Given the description of an element on the screen output the (x, y) to click on. 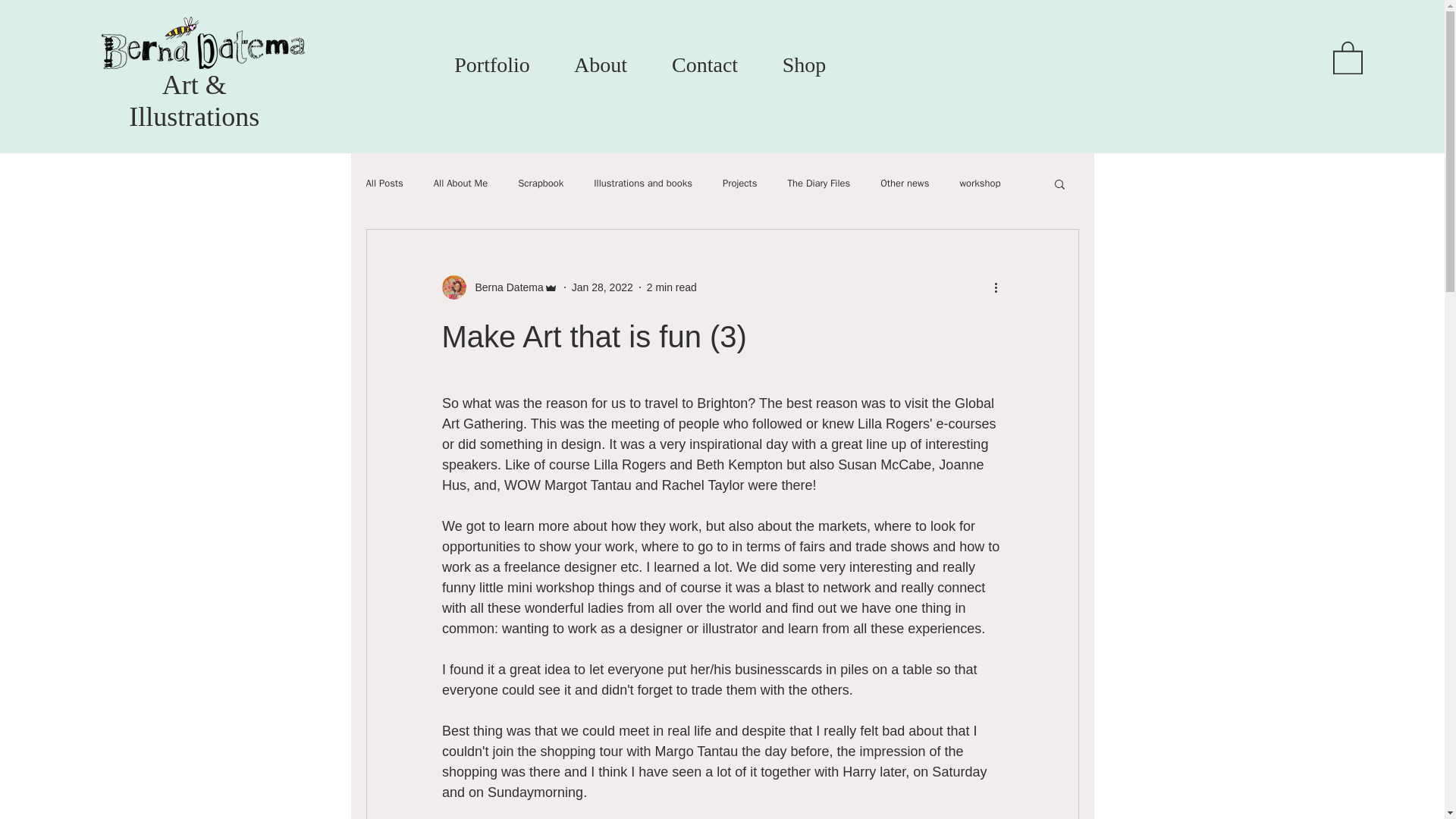
Scrapbook (540, 183)
Berna Datema (504, 286)
The Diary Files (818, 183)
Portfolio (491, 65)
workshop (979, 183)
Berna Datema (499, 287)
2 min read (671, 286)
All About Me (460, 183)
Jan 28, 2022 (602, 286)
All Posts (384, 183)
Projects (739, 183)
Contact (704, 65)
Other news (904, 183)
Illustrations and books (643, 183)
Shop (804, 65)
